Given the description of an element on the screen output the (x, y) to click on. 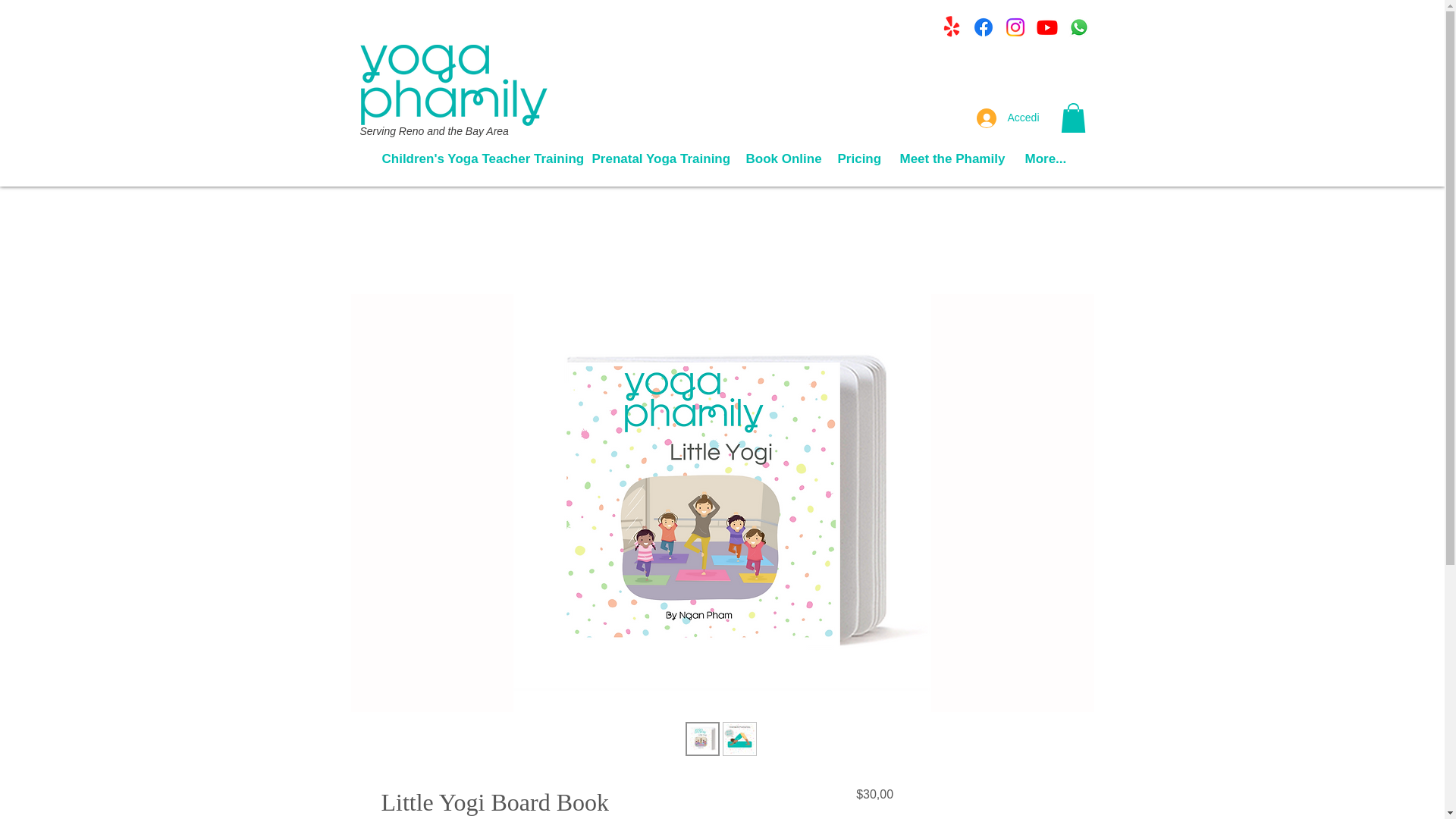
Children's Yoga Teacher Training (474, 158)
Pricing (857, 158)
Meet the Phamily (950, 158)
Prenatal Yoga Training (657, 158)
Accedi (1007, 118)
Book Online (779, 158)
